Given the description of an element on the screen output the (x, y) to click on. 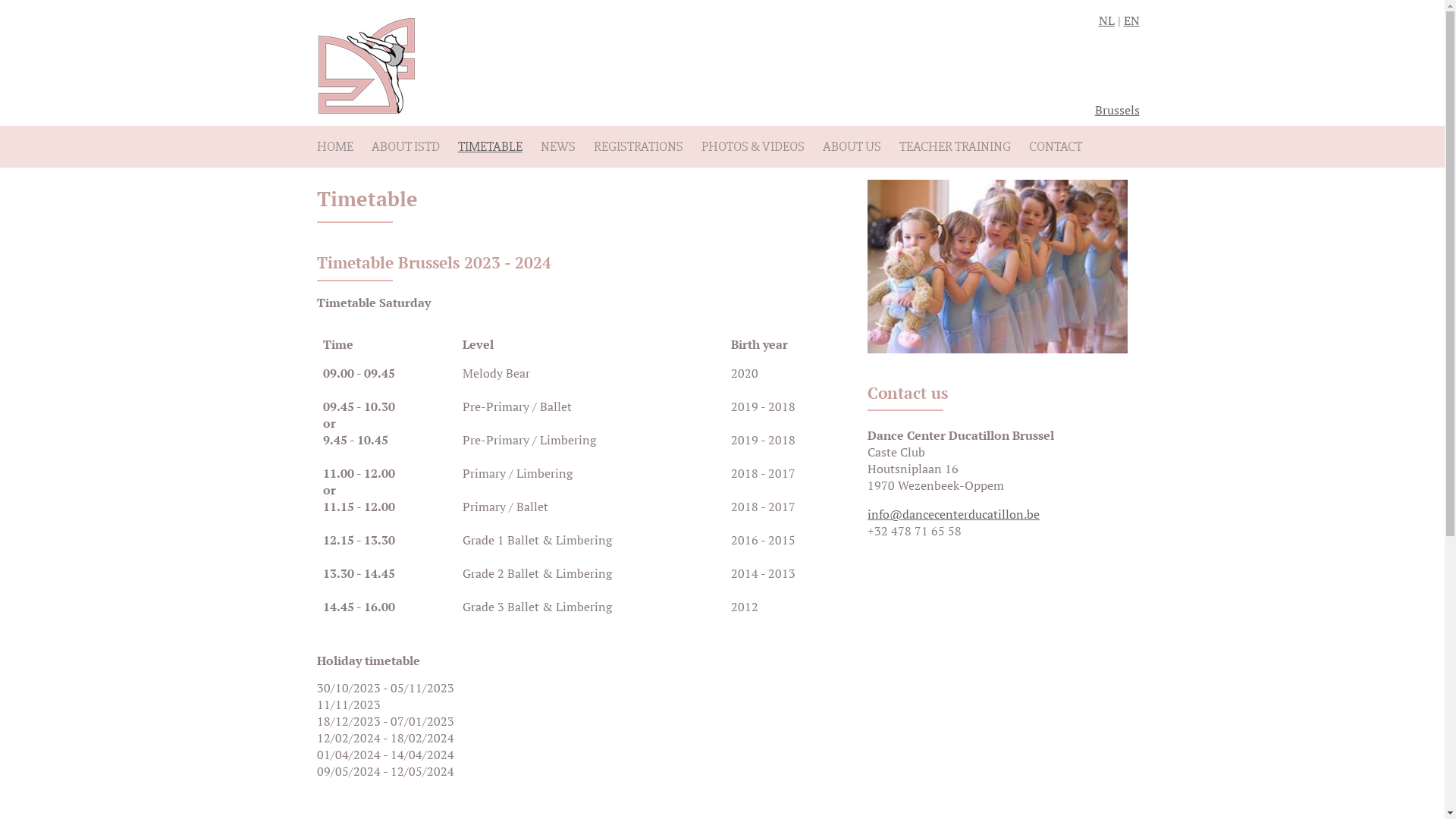
TEACHER TRAINING Element type: text (954, 146)
ABOUT ISTD Element type: text (405, 146)
NEWS Element type: text (556, 146)
info@dancecenterducatillon.be Element type: text (953, 513)
ABOUT US Element type: text (851, 146)
EN Element type: text (1131, 20)
TIMETABLE Element type: text (490, 146)
REGISTRATIONS Element type: text (637, 146)
HOME Element type: text (334, 146)
PHOTOS & VIDEOS Element type: text (751, 146)
NL Element type: text (1105, 20)
CONTACT Element type: text (1054, 146)
Brussels Element type: text (1117, 109)
